Given the description of an element on the screen output the (x, y) to click on. 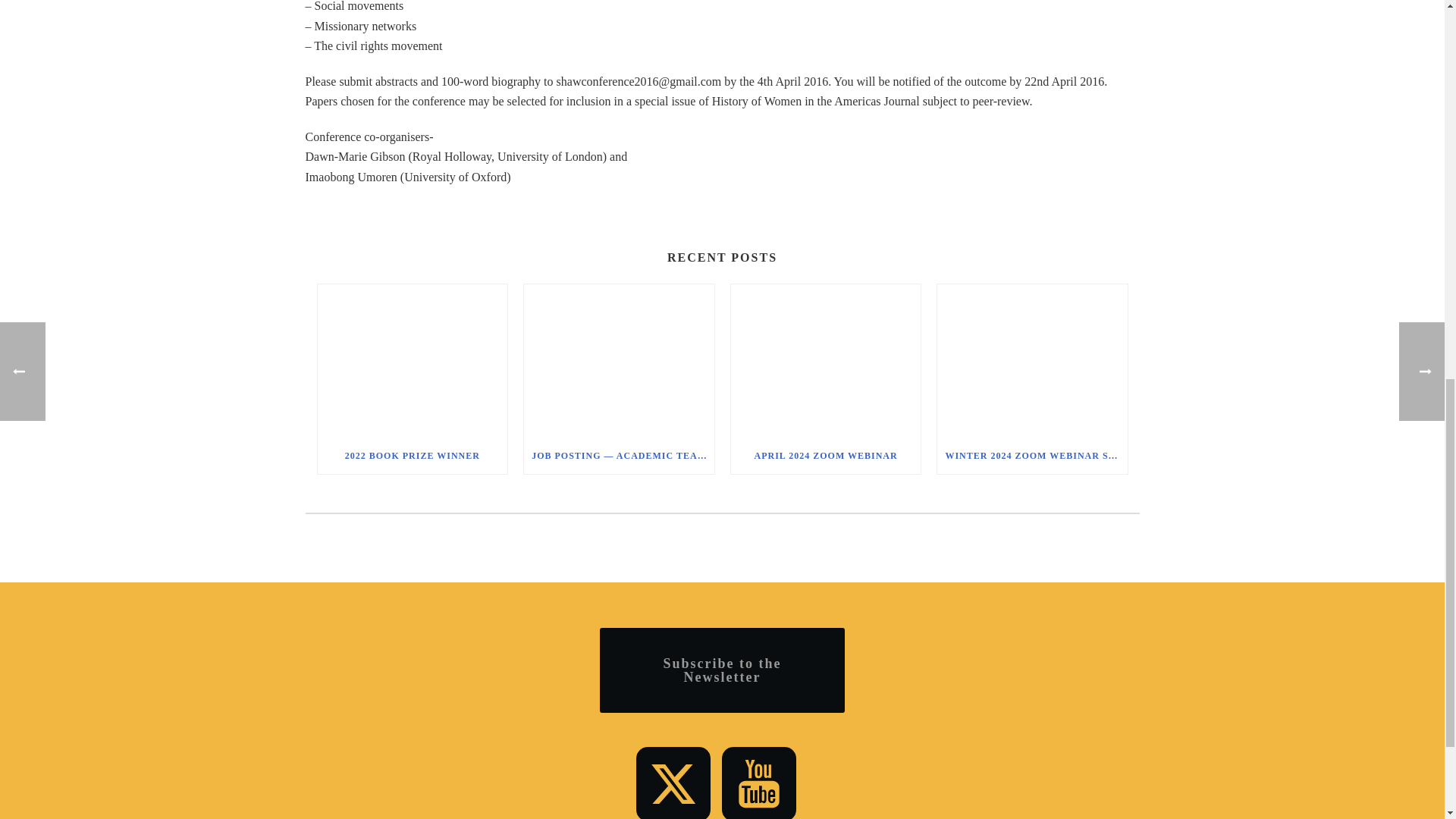
2022 Book Prize Winner (411, 360)
Follow Us on youtube (759, 782)
Follow Us on twitter (673, 782)
April 2024 Zoom Webinar (825, 360)
Winter 2024 Zoom Webinar Series (1031, 360)
Subscribe to the Newsletter (721, 670)
